Given the description of an element on the screen output the (x, y) to click on. 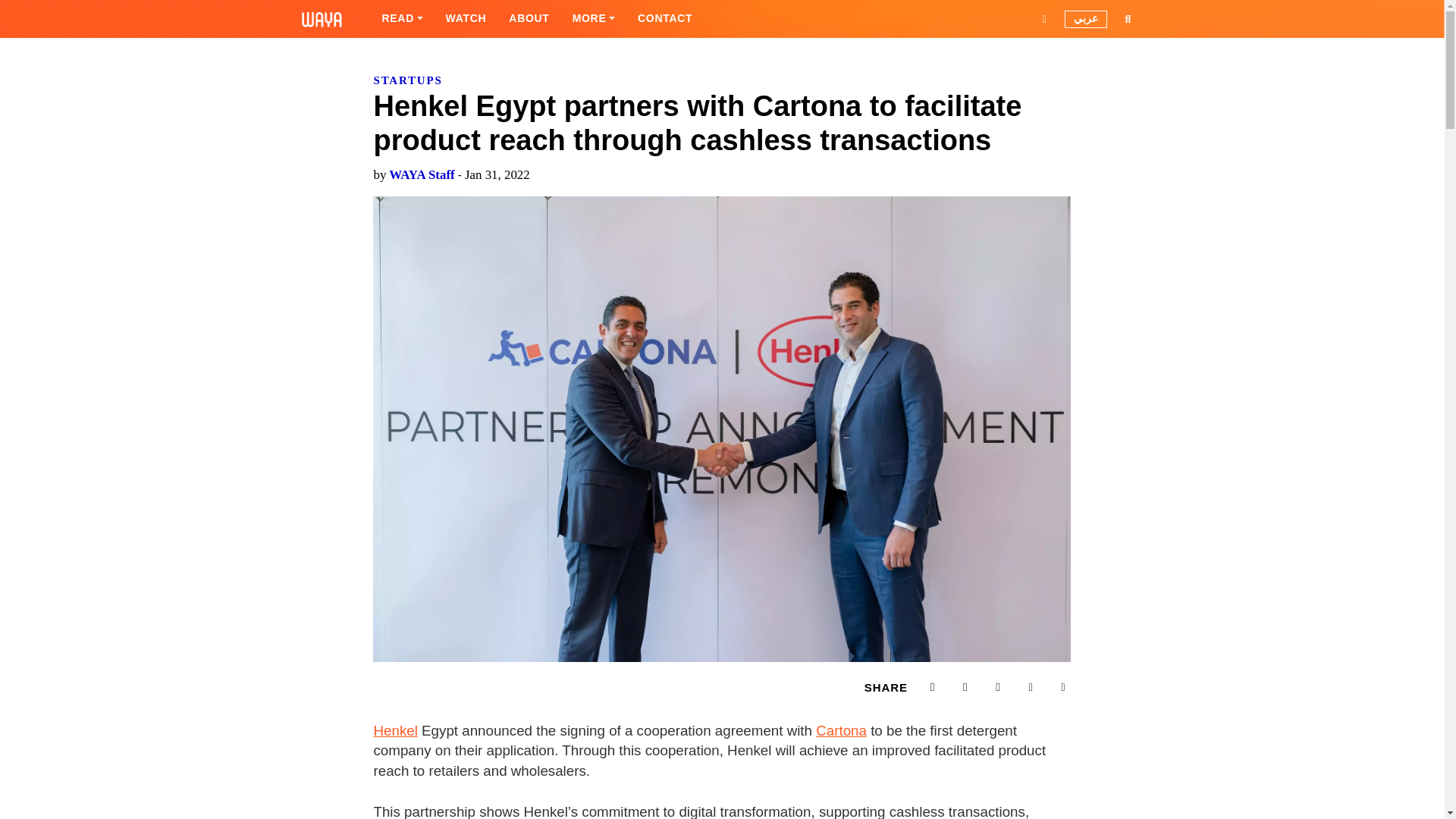
Read (401, 18)
WATCH (465, 18)
MORE (593, 18)
About (528, 18)
READ (401, 18)
ABOUT (528, 18)
CONTACT (664, 18)
Watch (465, 18)
